Given the description of an element on the screen output the (x, y) to click on. 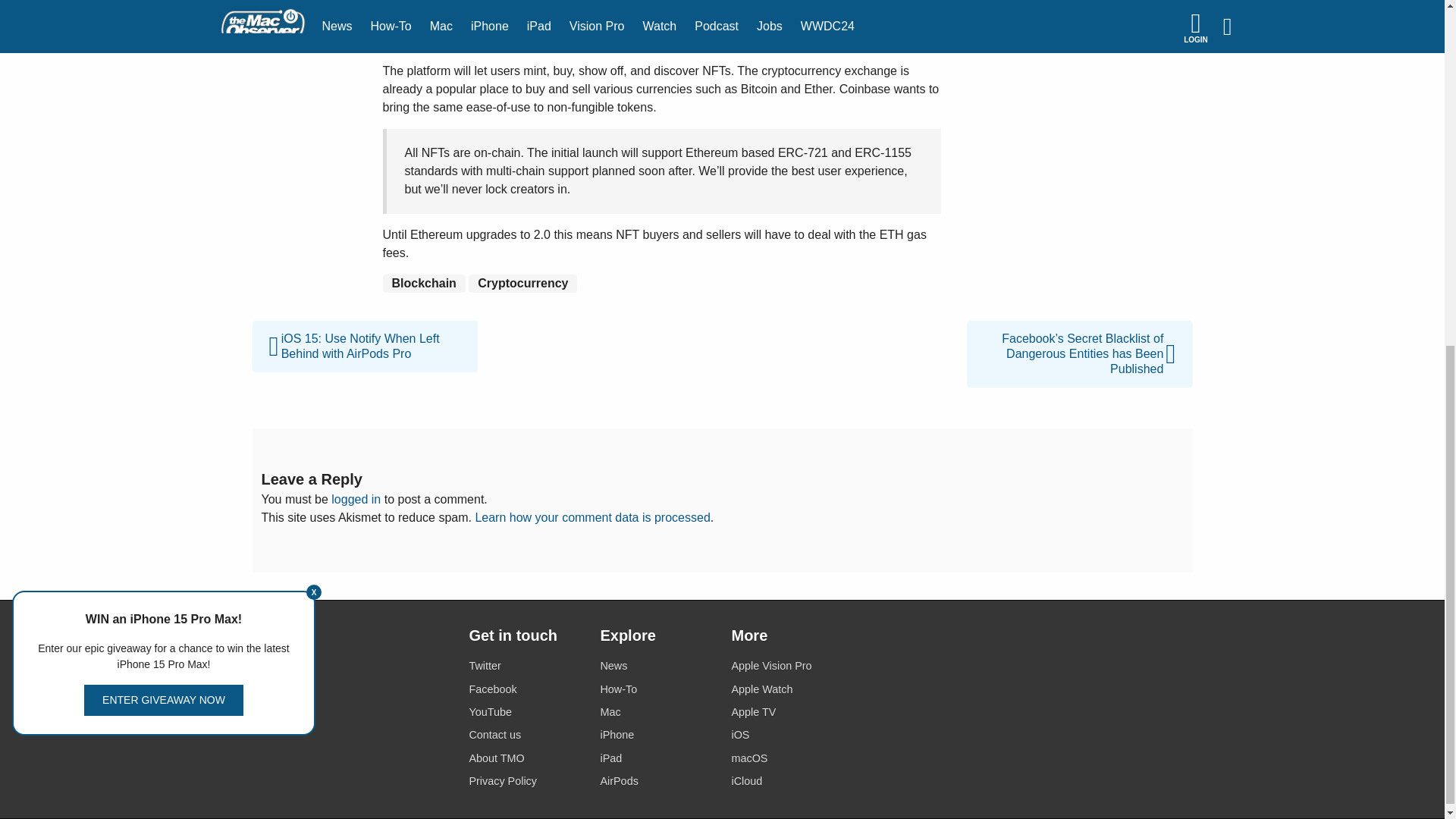
YouTube (524, 711)
Privacy Policy (524, 781)
Apple Vision Pro (787, 666)
Facebook (524, 689)
About TMO (524, 758)
Mac (656, 711)
News (656, 666)
How-To (656, 689)
Apple Watch (787, 689)
logged in (355, 499)
AirPods (656, 781)
Twitter (524, 666)
iOS 15: Use Notify When Left Behind with AirPods Pro (364, 328)
Contact us (524, 734)
iPad (656, 758)
